Given the description of an element on the screen output the (x, y) to click on. 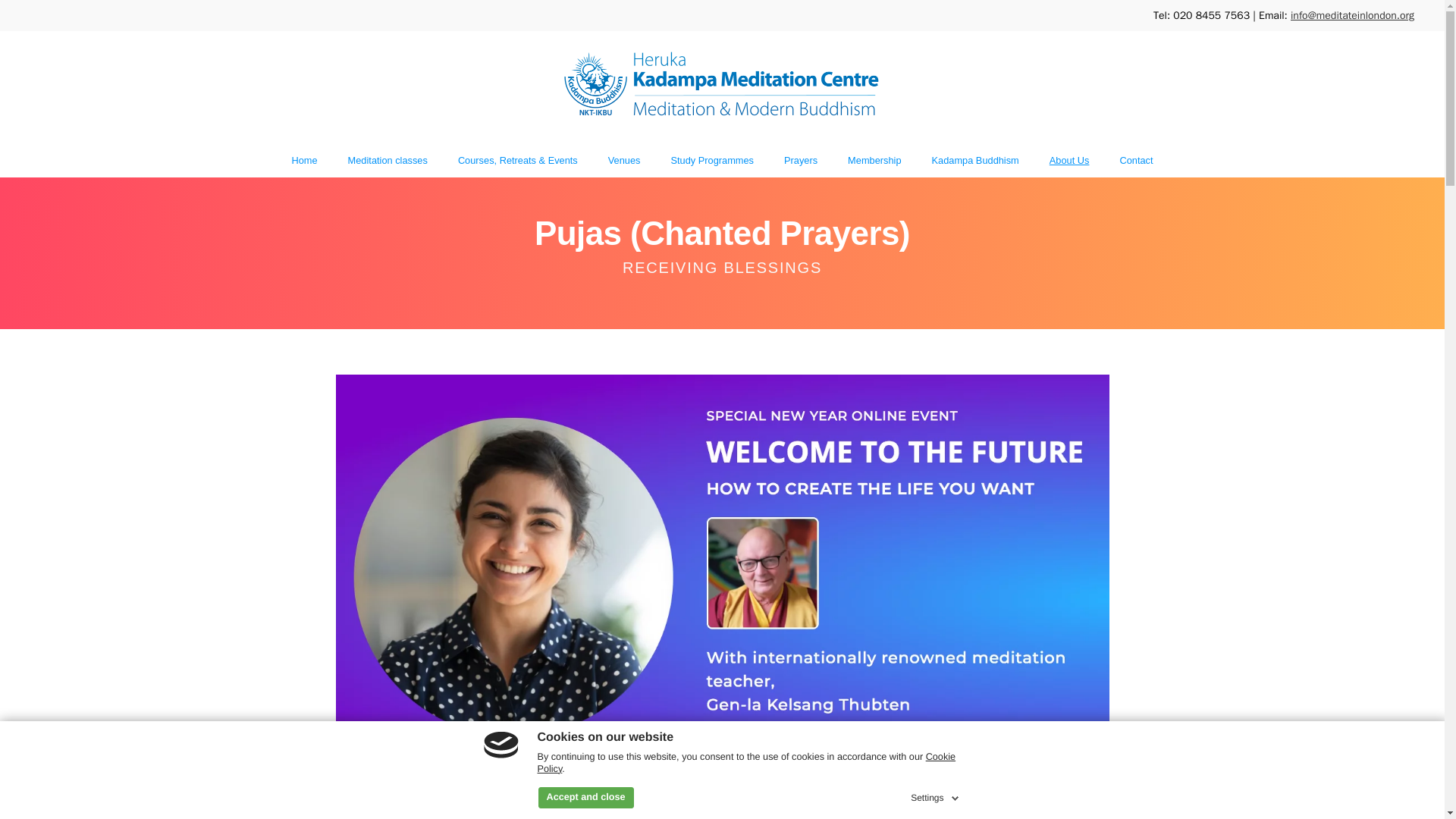
Cookie Policy (746, 762)
Settings (935, 795)
Accept and close (585, 797)
